Given the description of an element on the screen output the (x, y) to click on. 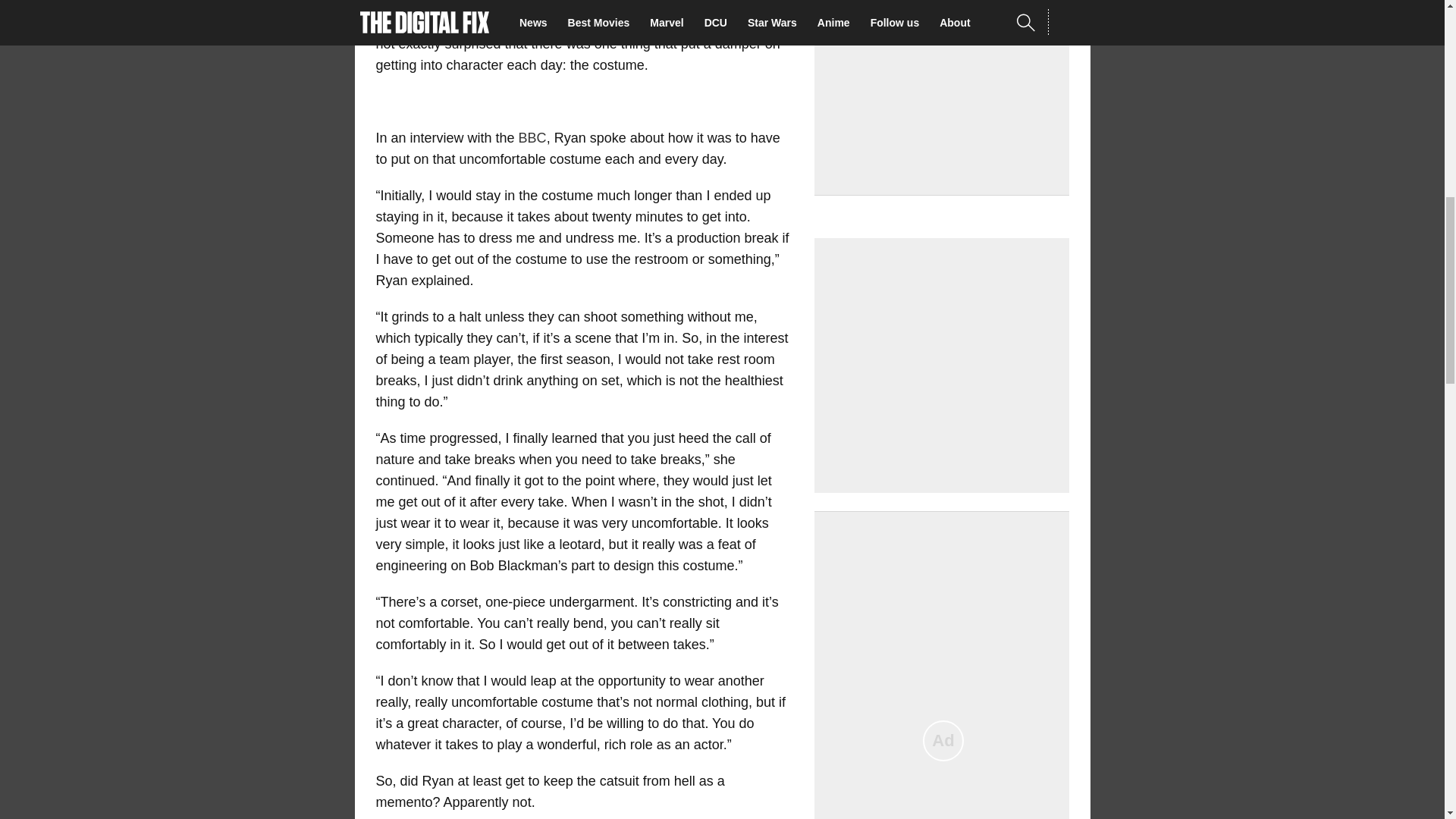
Star Trek series (598, 4)
BBC (532, 137)
TV series (706, 22)
